Given the description of an element on the screen output the (x, y) to click on. 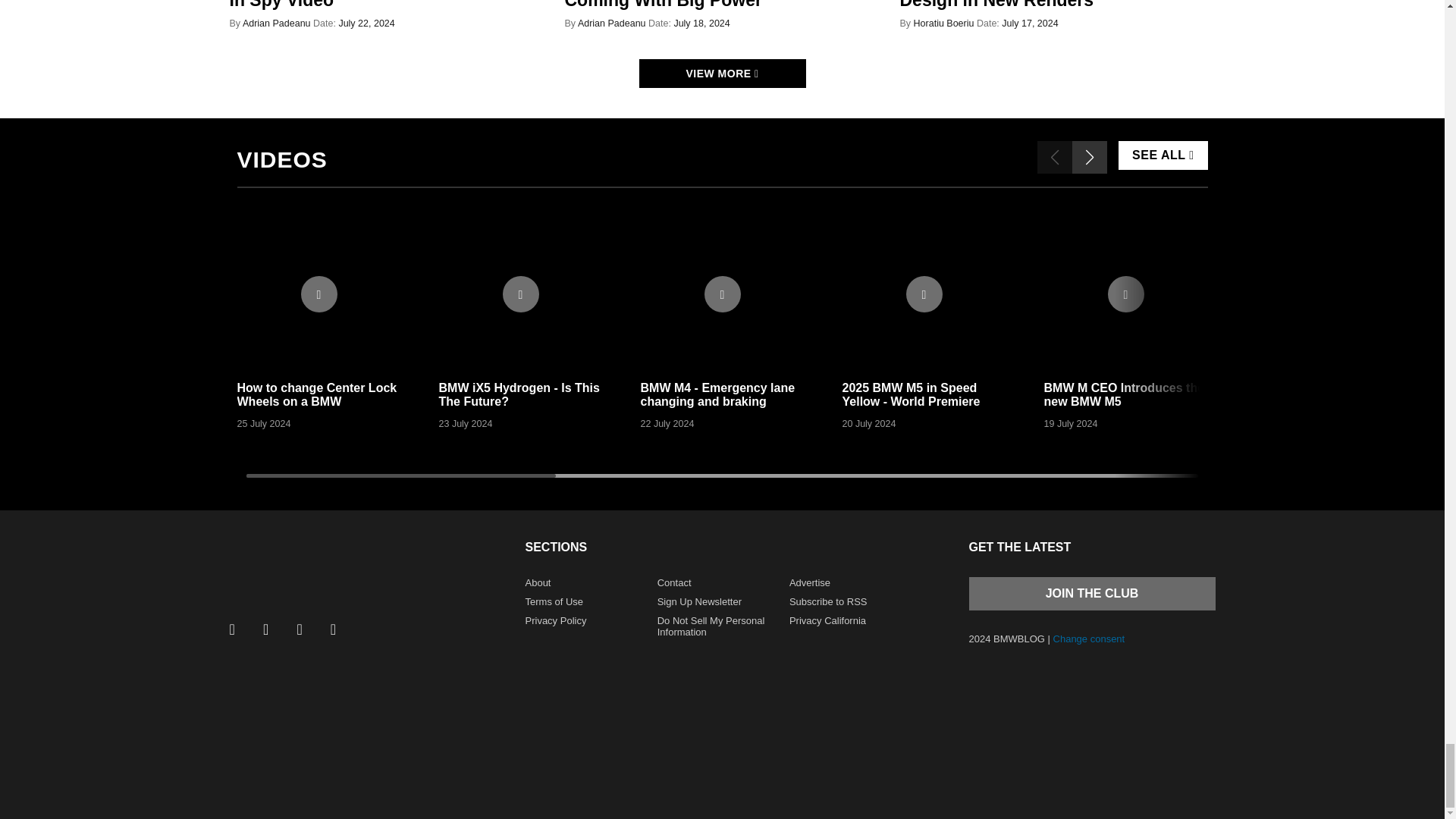
Join the club (1092, 593)
